Given the description of an element on the screen output the (x, y) to click on. 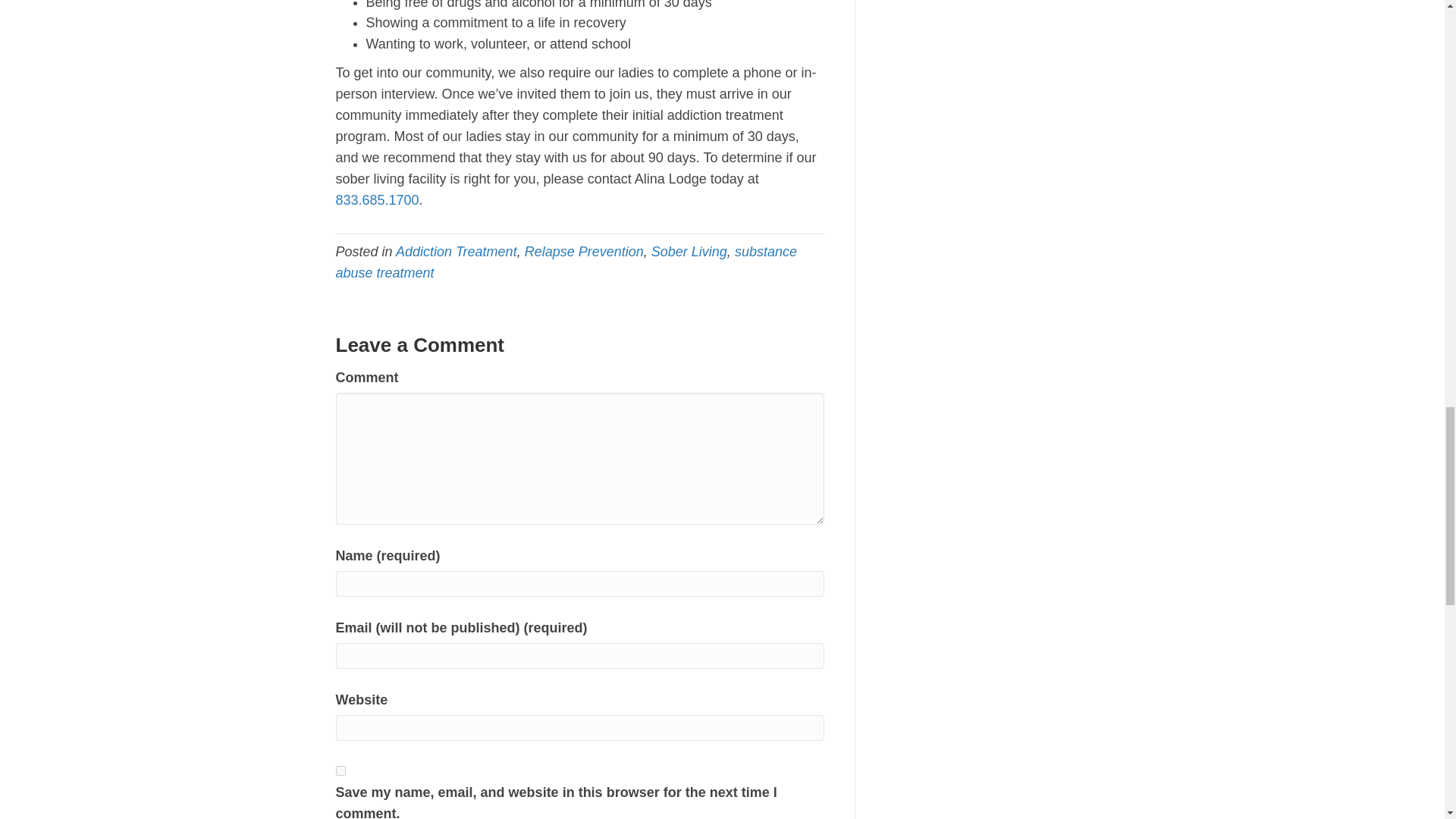
yes (339, 770)
